Given the description of an element on the screen output the (x, y) to click on. 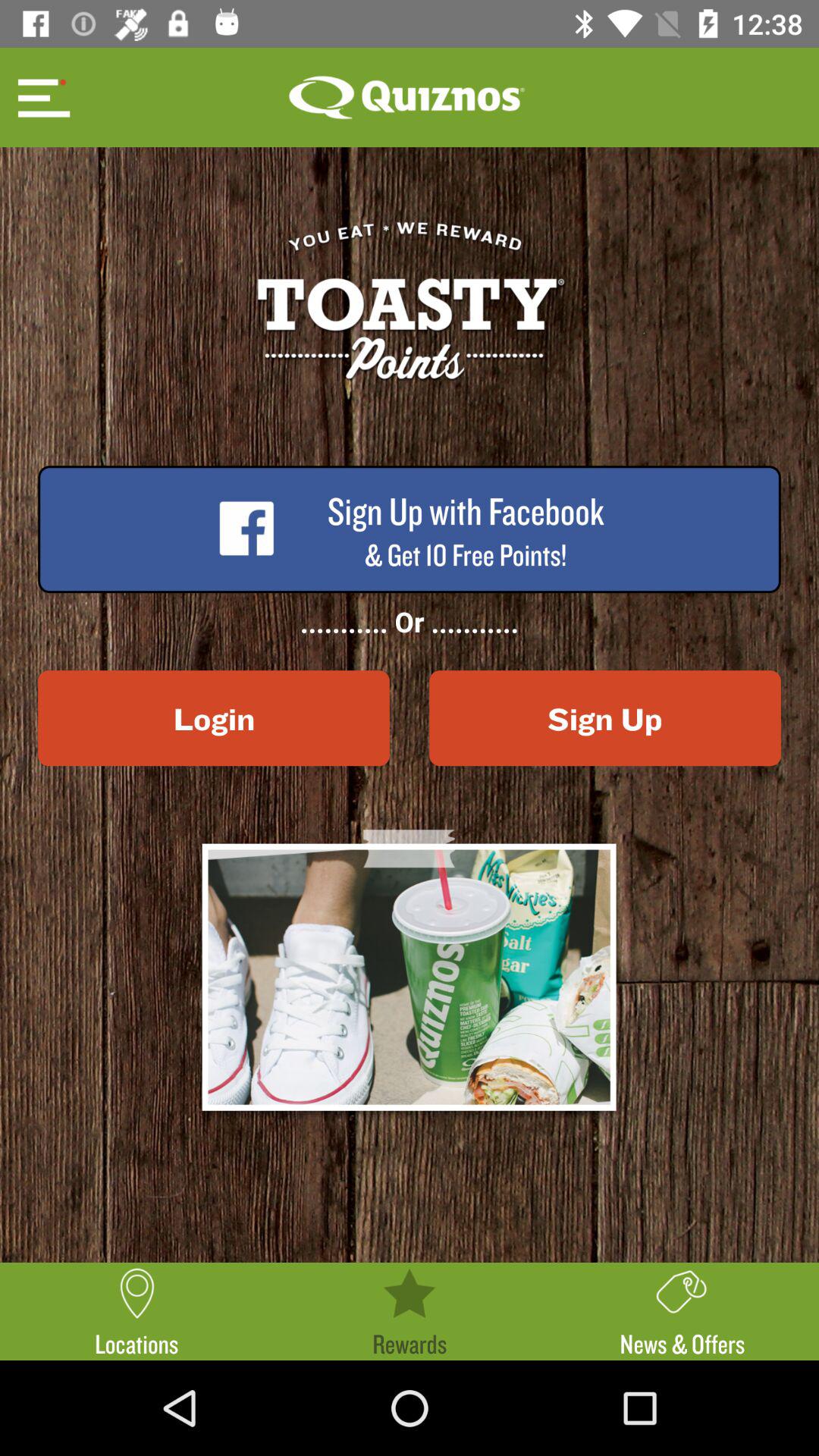
click the item next to the sign up icon (213, 718)
